Given the description of an element on the screen output the (x, y) to click on. 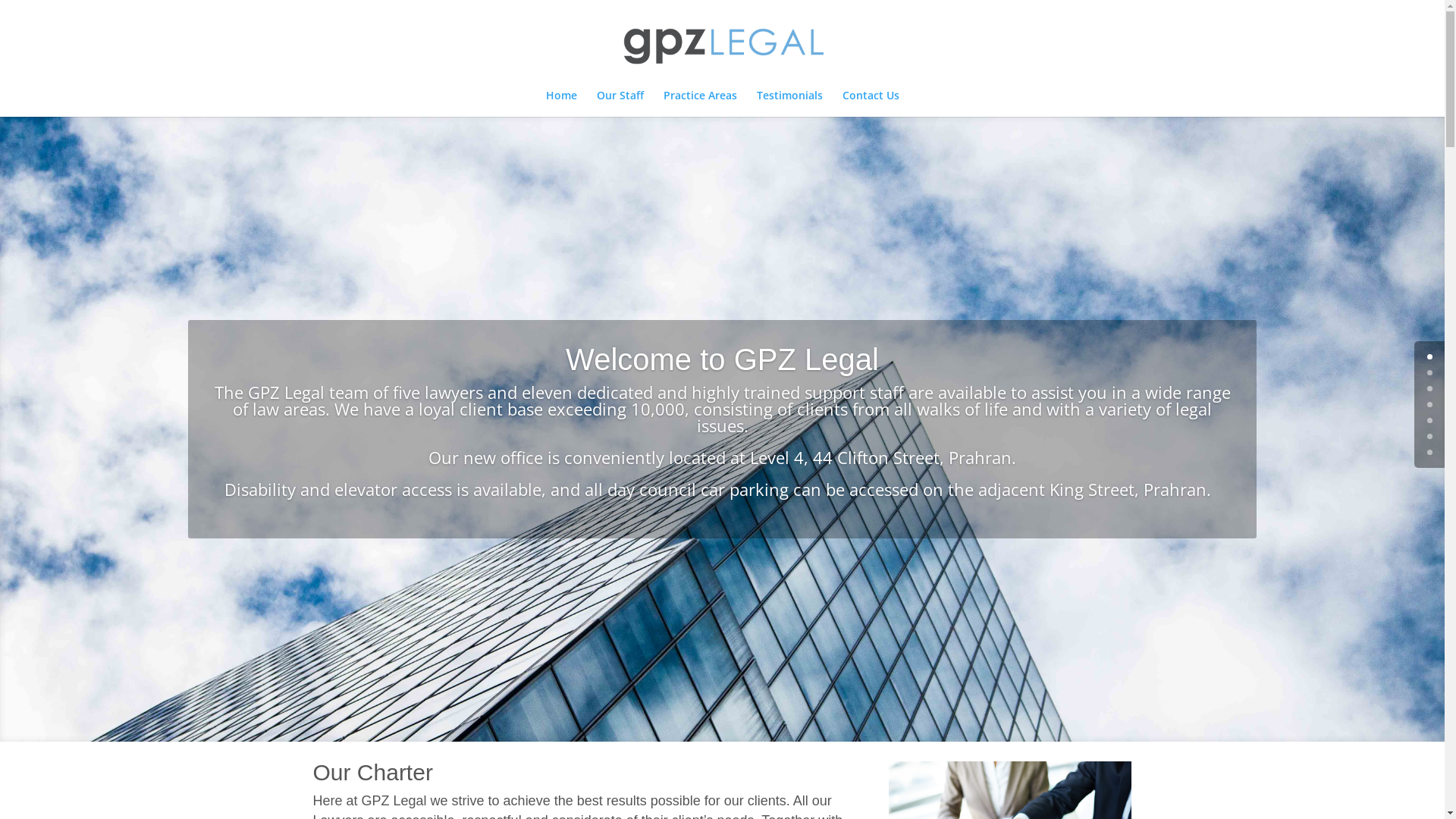
Welcome to GPZ Legal Element type: text (721, 359)
1 Element type: text (1429, 372)
Practice Areas Element type: text (699, 103)
6 Element type: text (1429, 452)
Home Element type: text (561, 103)
Testimonials Element type: text (789, 103)
Contact Us Element type: text (869, 103)
2 Element type: text (1429, 388)
0 Element type: text (1429, 356)
Our Staff Element type: text (619, 103)
5 Element type: text (1429, 436)
4 Element type: text (1429, 420)
3 Element type: text (1429, 404)
